Given the description of an element on the screen output the (x, y) to click on. 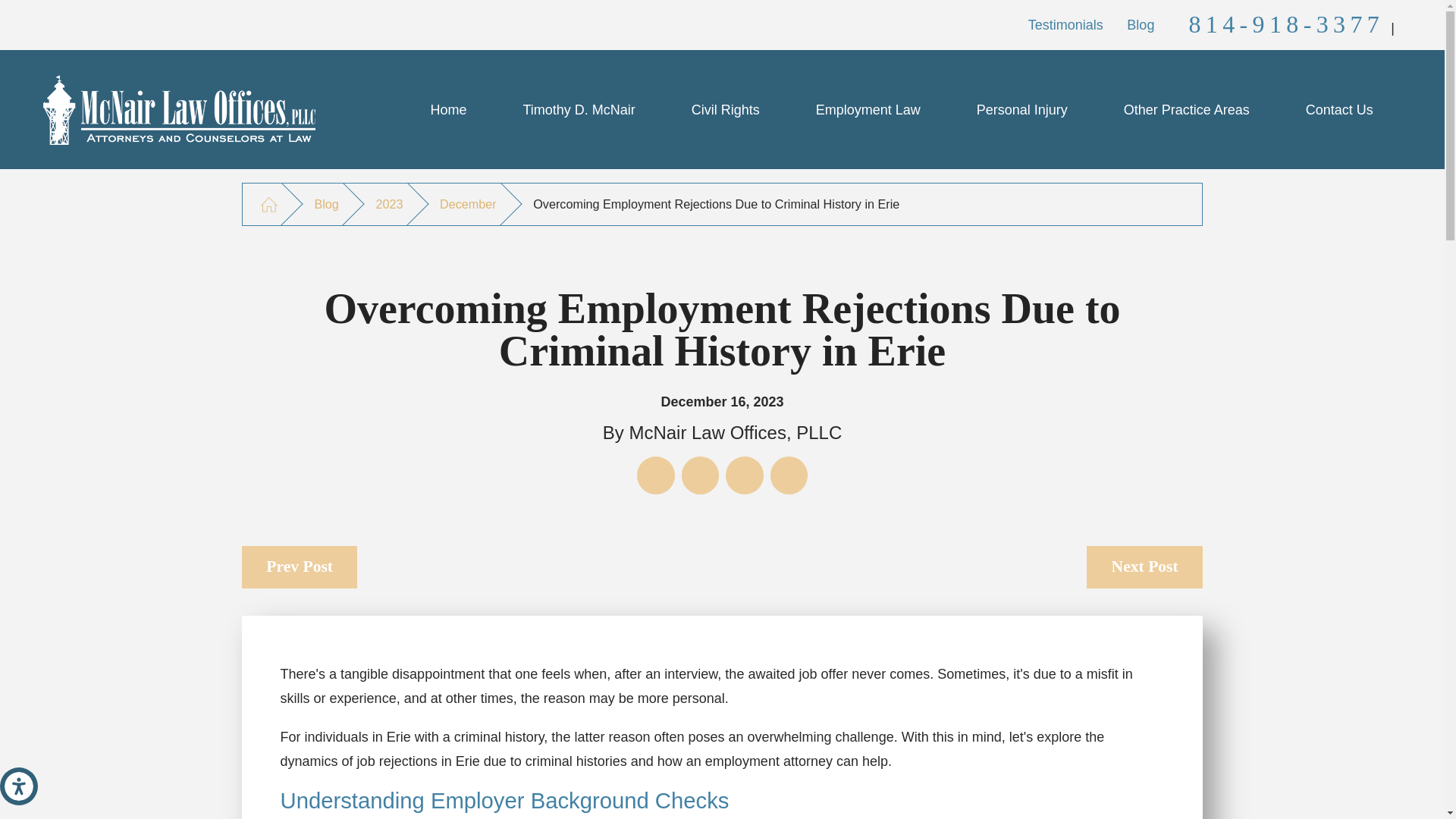
McNair Law Offices, PLLC (179, 109)
814-918-3377 (1286, 23)
Employment Law (868, 108)
Civil Rights (725, 108)
Testimonials (1065, 24)
Other Practice Areas (1187, 108)
Personal Injury (1022, 108)
Go Home (269, 203)
Open the accessibility options menu (18, 786)
Timothy D. McNair (578, 108)
